Given the description of an element on the screen output the (x, y) to click on. 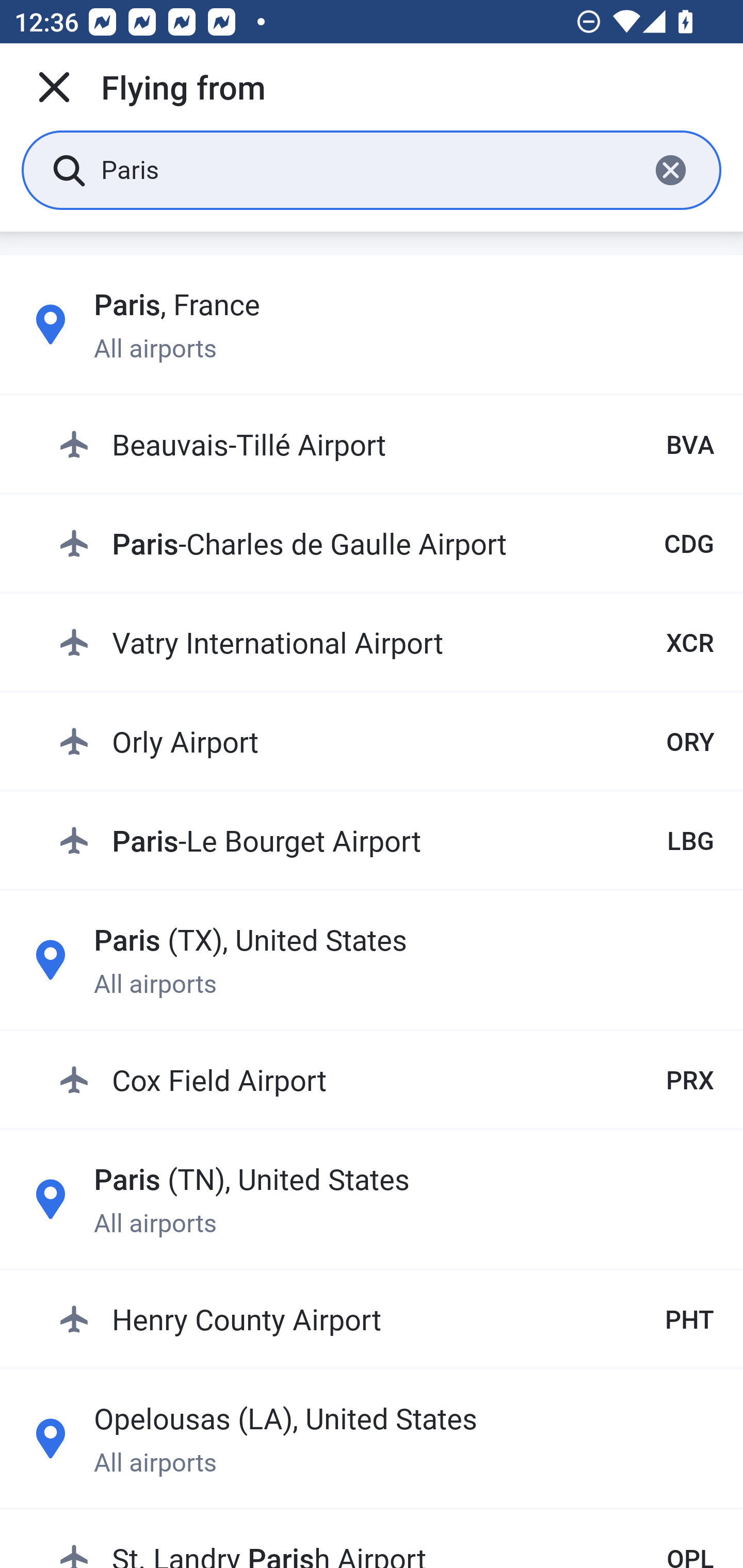
Paris (367, 169)
Paris, France All airports (371, 324)
Beauvais-Tillé Airport BVA (385, 444)
Paris-Charles de Gaulle Airport CDG (385, 543)
Vatry International Airport XCR (385, 641)
Orly Airport ORY (385, 740)
Paris-Le Bourget Airport LBG (385, 839)
Paris (TX), United States All airports (371, 960)
Cox Field Airport PRX (385, 1079)
Paris (TN), United States All airports (371, 1198)
Henry County Airport PHT (385, 1318)
Opelousas (LA), United States All airports (371, 1438)
St. Landry Parish Airport OPL (385, 1541)
